Given the description of an element on the screen output the (x, y) to click on. 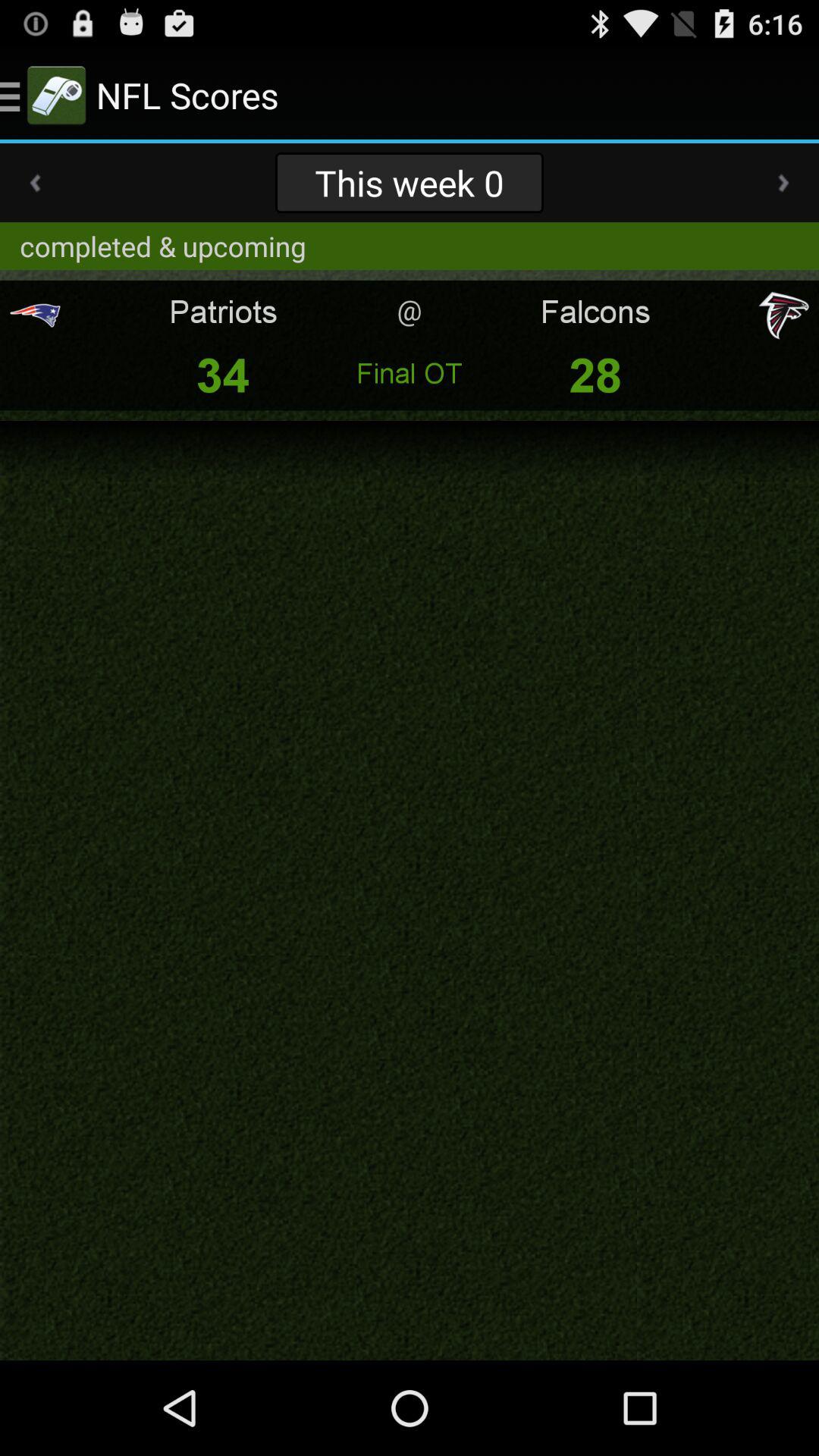
tap icon next to this week 0 item (783, 182)
